Given the description of an element on the screen output the (x, y) to click on. 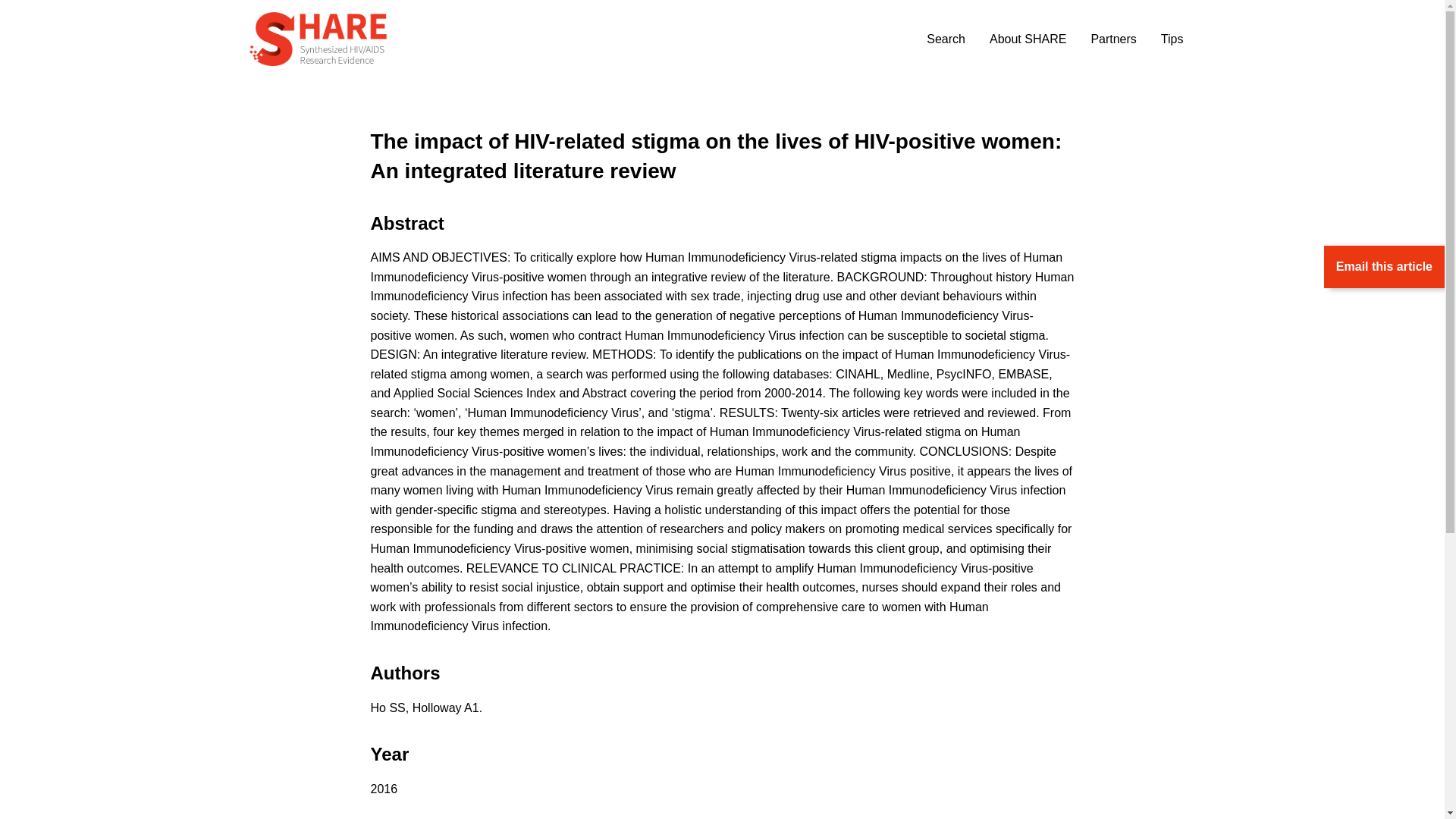
Search (945, 38)
About SHARE (1027, 38)
Tips (1171, 38)
Partners (1113, 38)
